Given the description of an element on the screen output the (x, y) to click on. 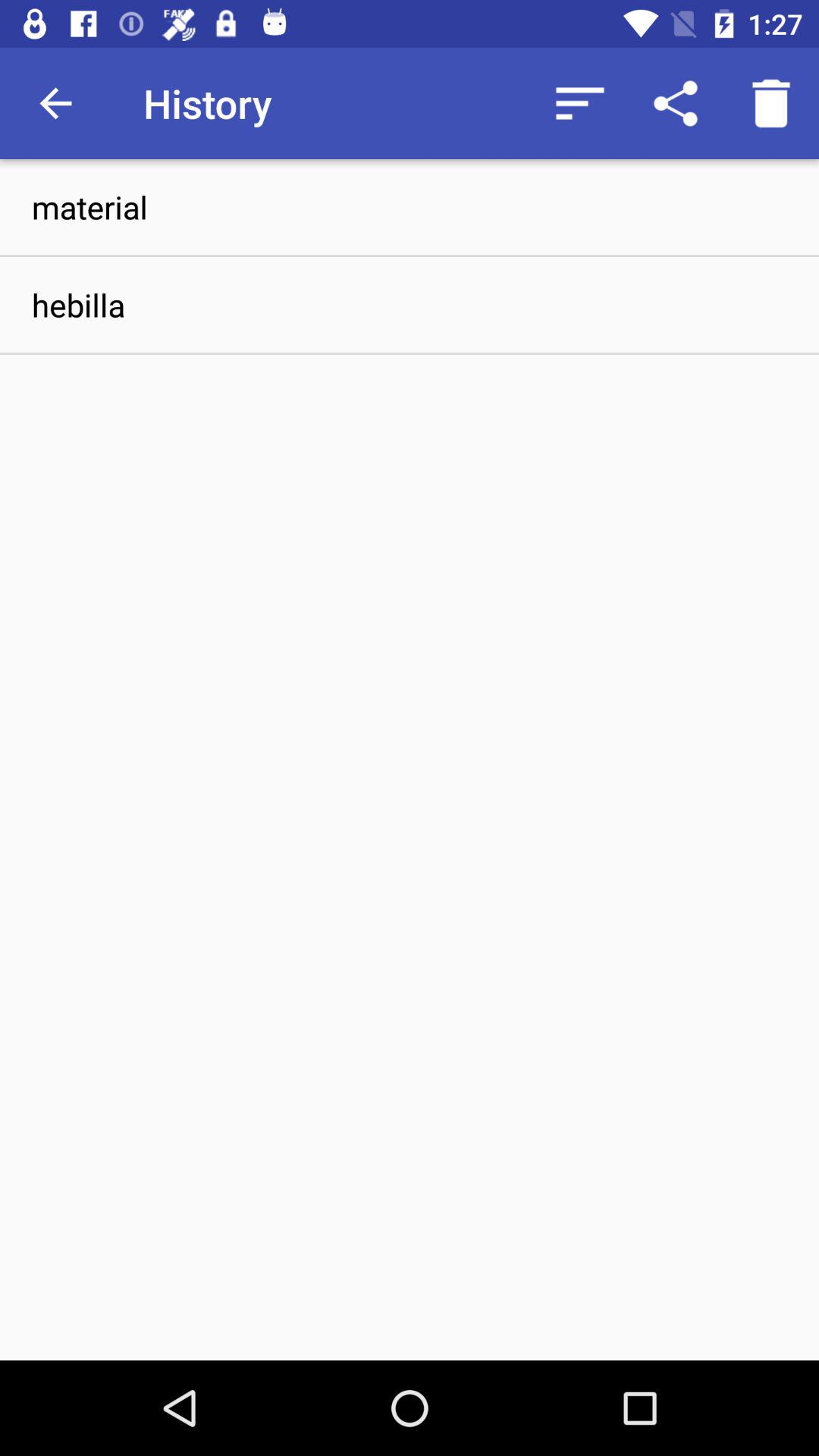
press icon above hebilla (409, 206)
